Given the description of an element on the screen output the (x, y) to click on. 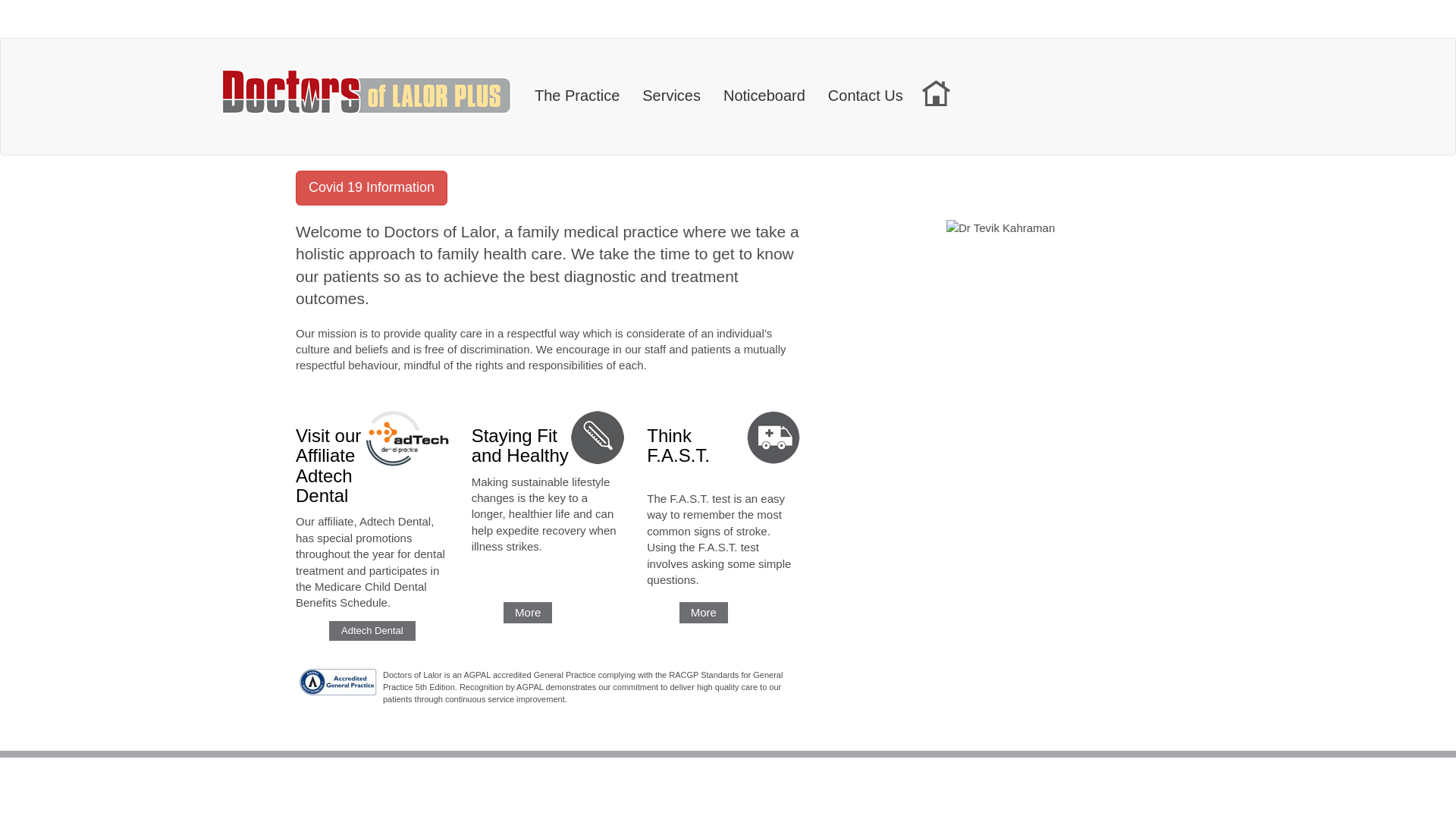
More Element type: text (703, 612)
Covid 19 Information Element type: text (371, 194)
Adtech Dental Element type: text (372, 630)
Covid 19 Information Element type: text (371, 187)
Contact Us Element type: text (865, 91)
Noticeboard Element type: text (764, 91)
Services Element type: text (671, 91)
The Practice Element type: text (576, 91)
More Element type: text (527, 612)
